Given the description of an element on the screen output the (x, y) to click on. 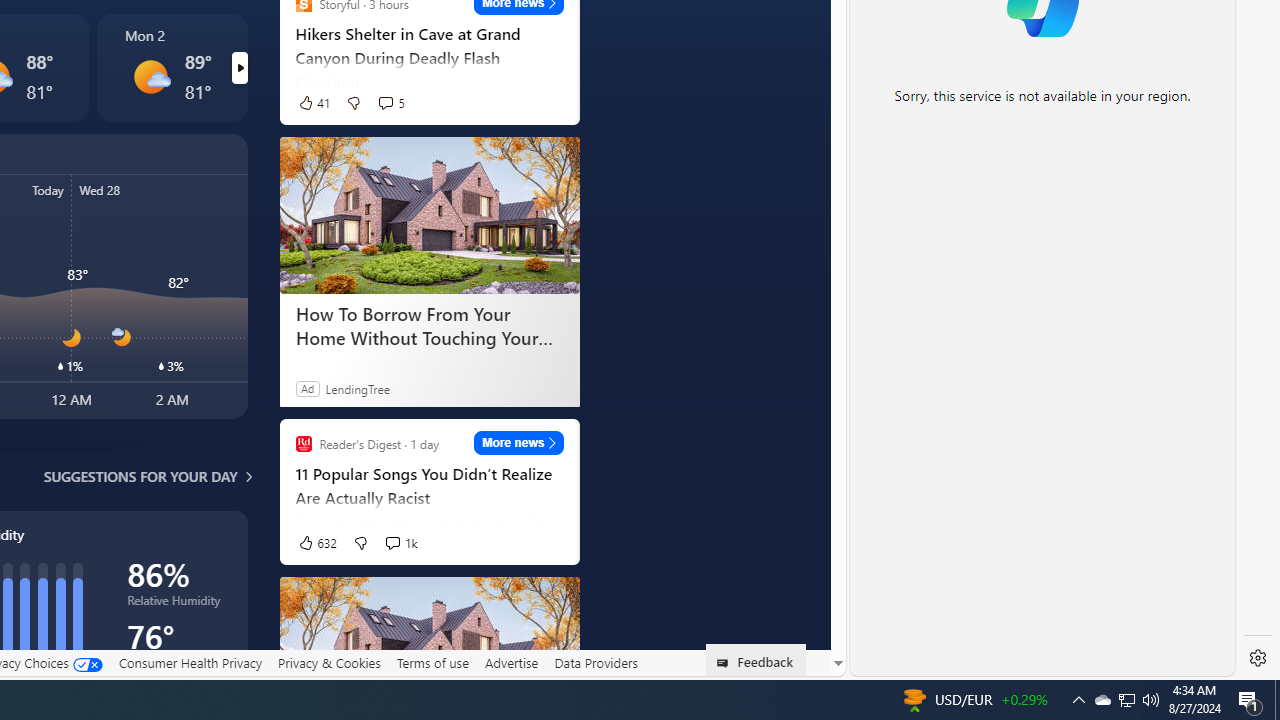
Dew point (176, 665)
